Given the description of an element on the screen output the (x, y) to click on. 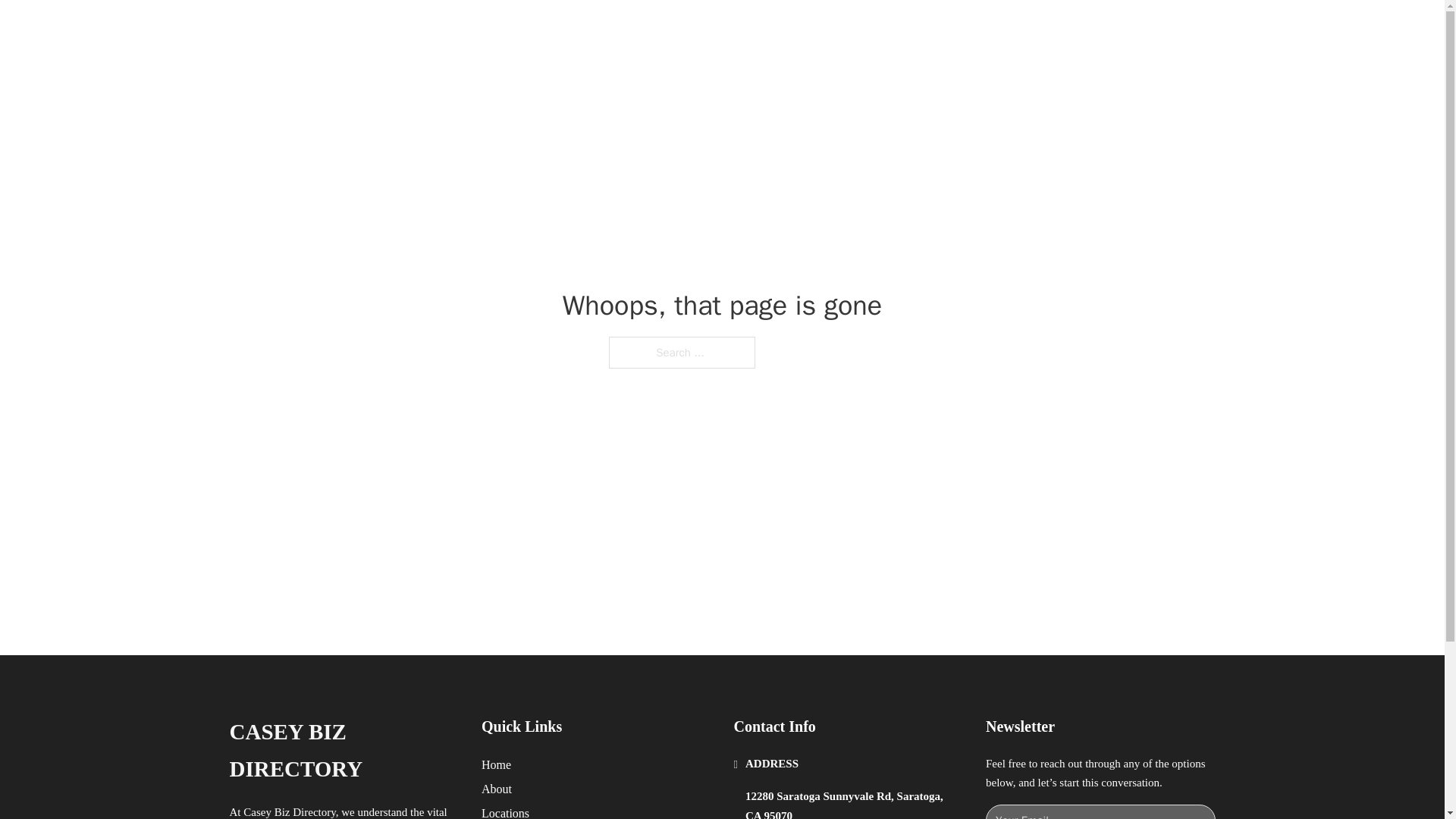
Home (496, 764)
Locations (505, 811)
About (496, 788)
CASEY BIZ DIRECTORY (343, 750)
CASEY BIZ DIRECTORY (422, 28)
